Given the description of an element on the screen output the (x, y) to click on. 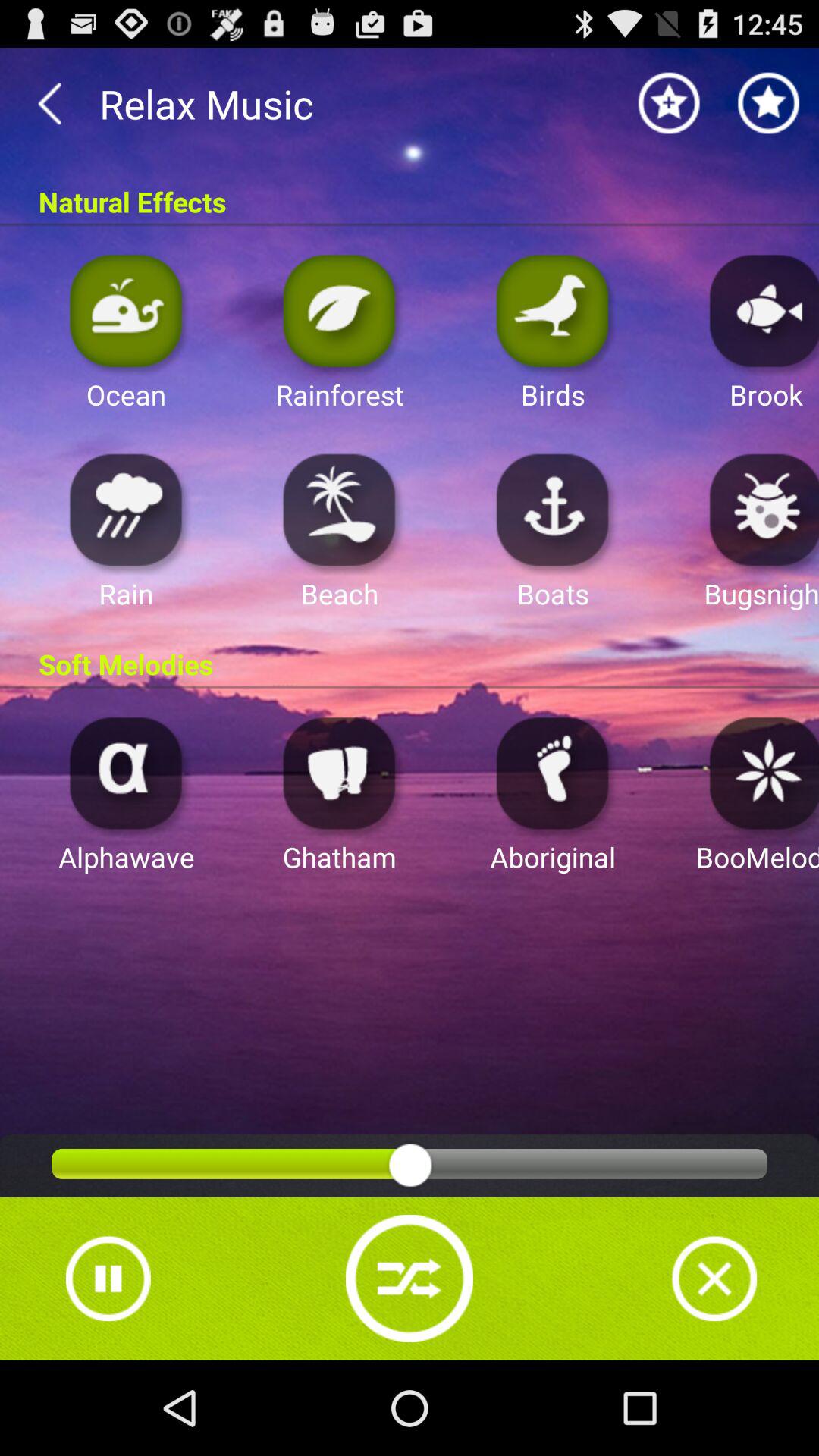
starts rainforest background noise (339, 309)
